Given the description of an element on the screen output the (x, y) to click on. 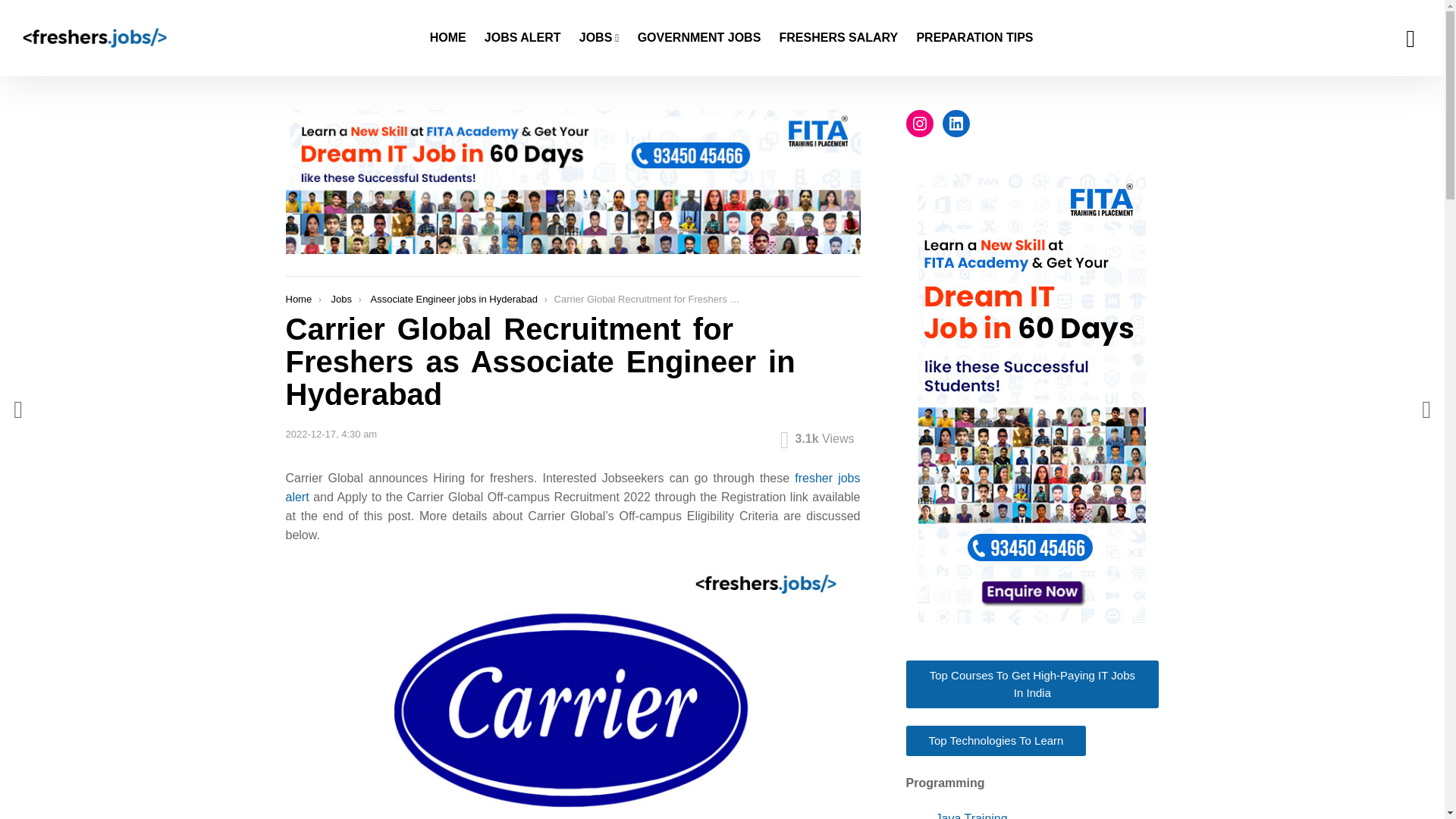
JOBS (599, 37)
Home (298, 298)
FRESHERS SALARY (838, 37)
HOME (448, 37)
fresher jobs alert (572, 487)
PREPARATION TIPS (974, 37)
GOVERNMENT JOBS (699, 37)
Jobs (340, 298)
Associate Engineer jobs in Hyderabad (453, 298)
JOBS ALERT (523, 37)
